Given the description of an element on the screen output the (x, y) to click on. 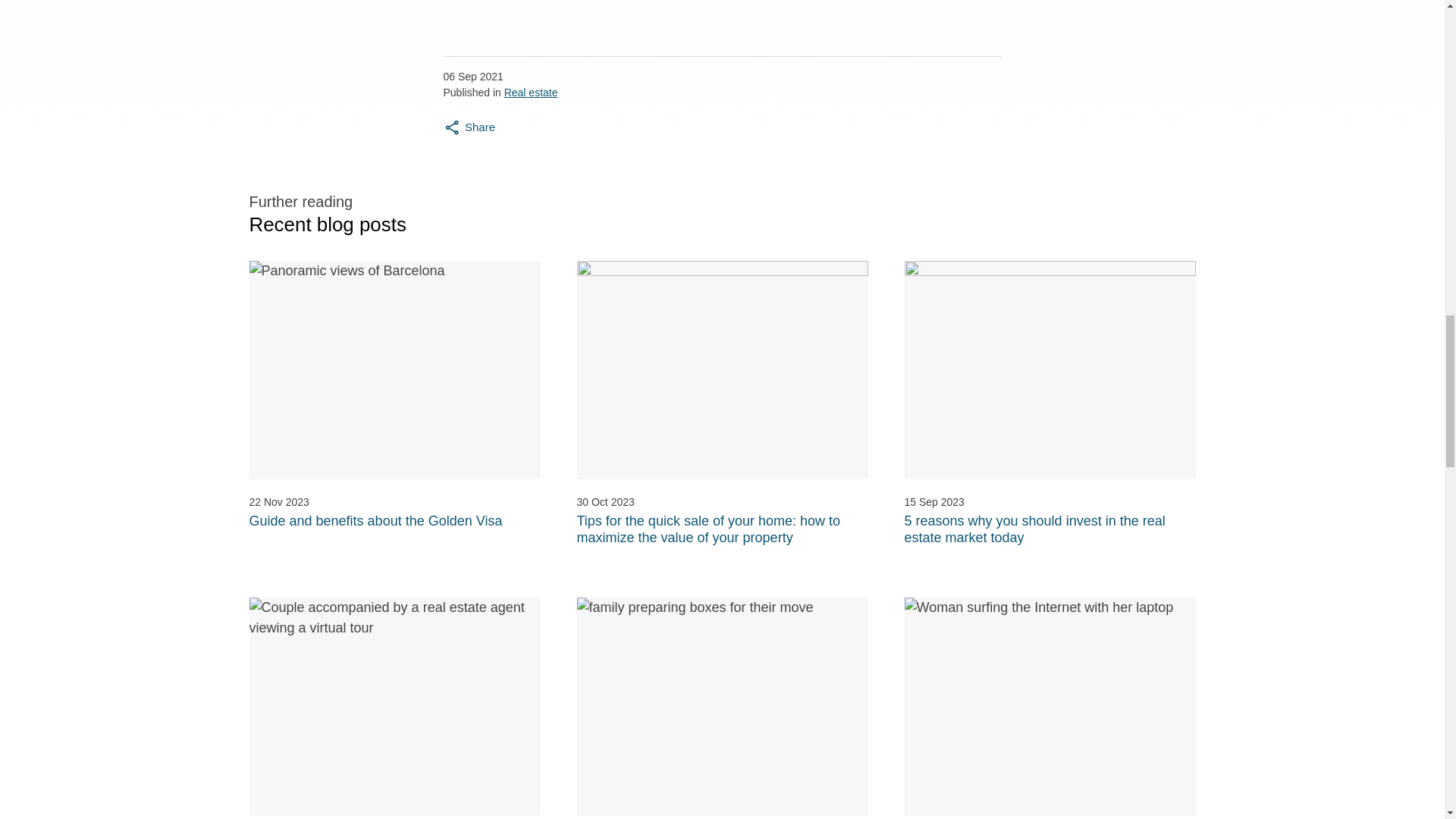
Real estate (530, 92)
Guide and benefits about the Golden Visa (375, 520)
Share (468, 127)
